Given the description of an element on the screen output the (x, y) to click on. 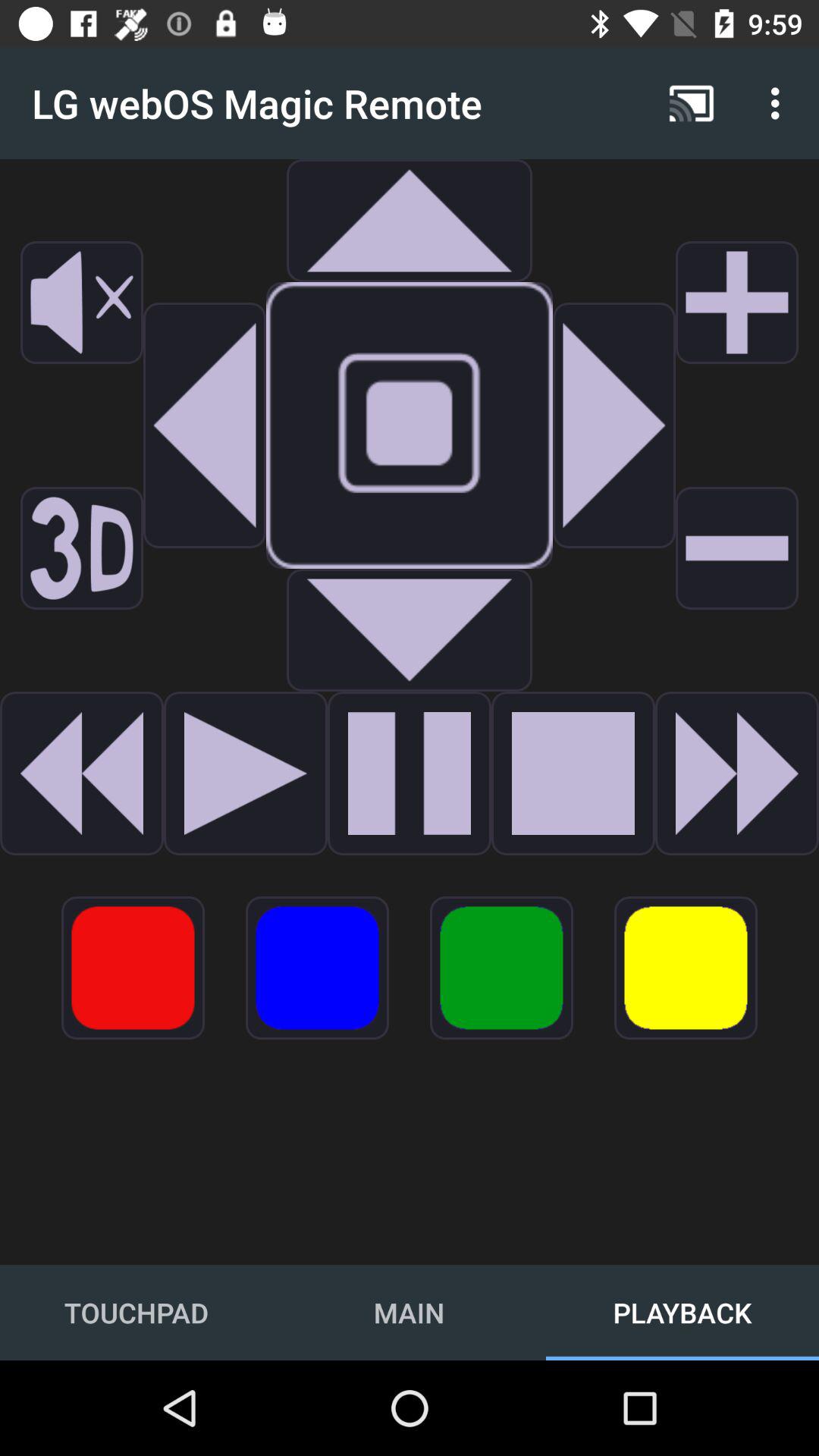
mute sound (81, 302)
